Given the description of an element on the screen output the (x, y) to click on. 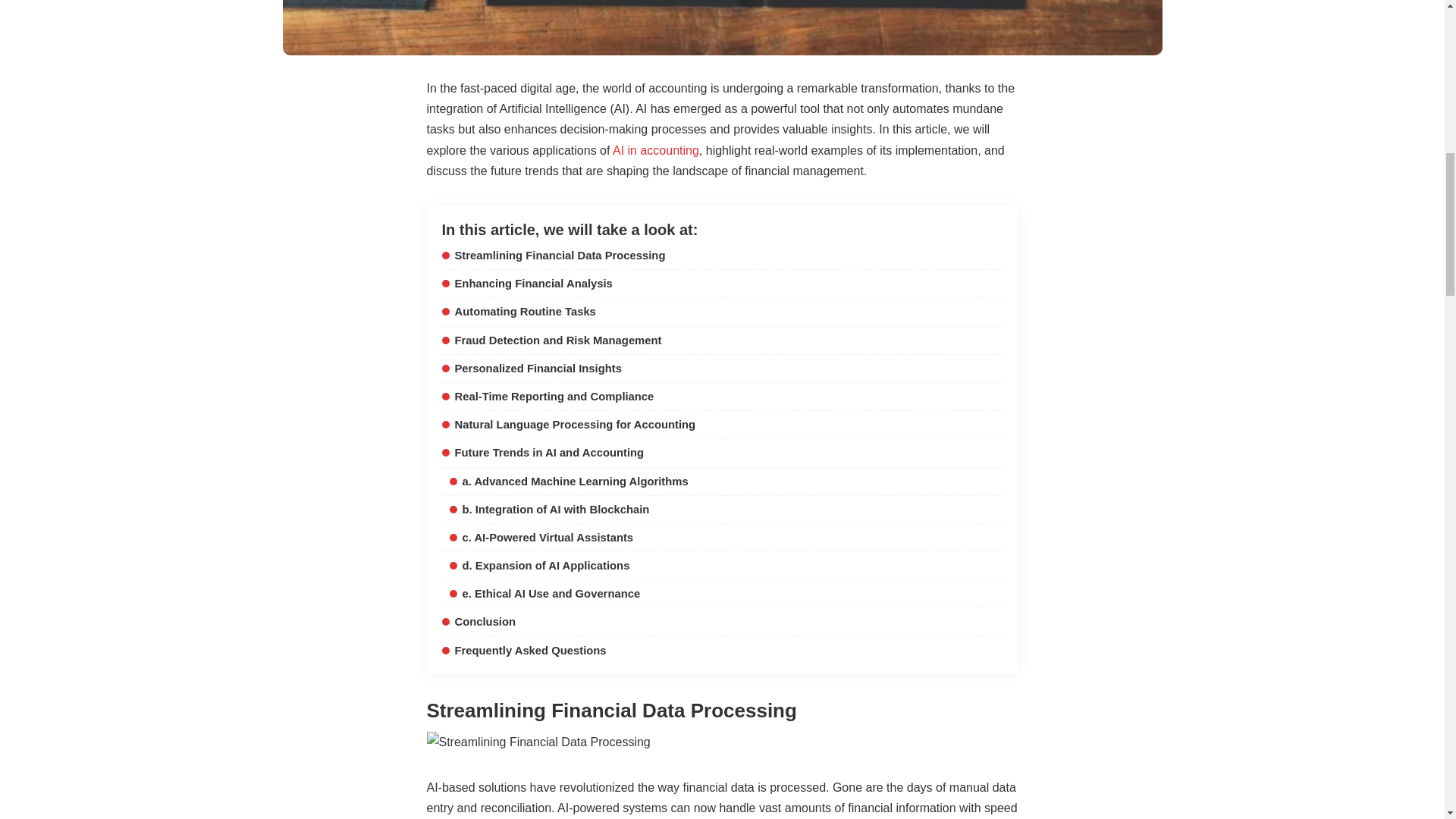
c. AI-Powered Virtual Assistants (540, 537)
Frequently Asked Questions (523, 650)
Streamlining Financial Data Processing (553, 255)
Personalized Financial Insights (531, 368)
d. Expansion of AI Applications (538, 565)
Automating Routine Tasks (518, 311)
Future Trends in AI and Accounting (542, 452)
Conclusion (478, 621)
b. Integration of AI with Blockchain (548, 509)
